Given the description of an element on the screen output the (x, y) to click on. 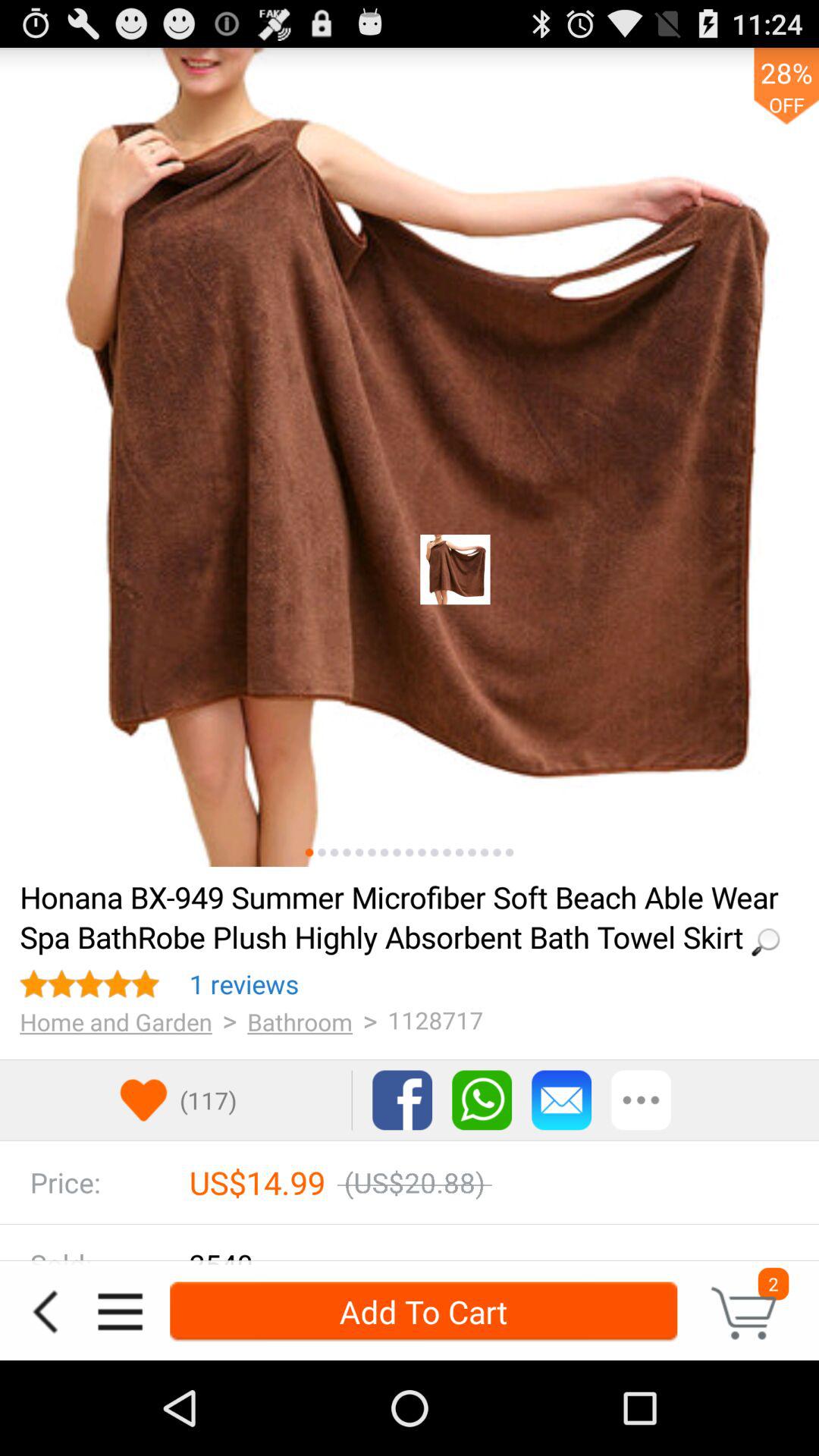
next image (459, 852)
